Given the description of an element on the screen output the (x, y) to click on. 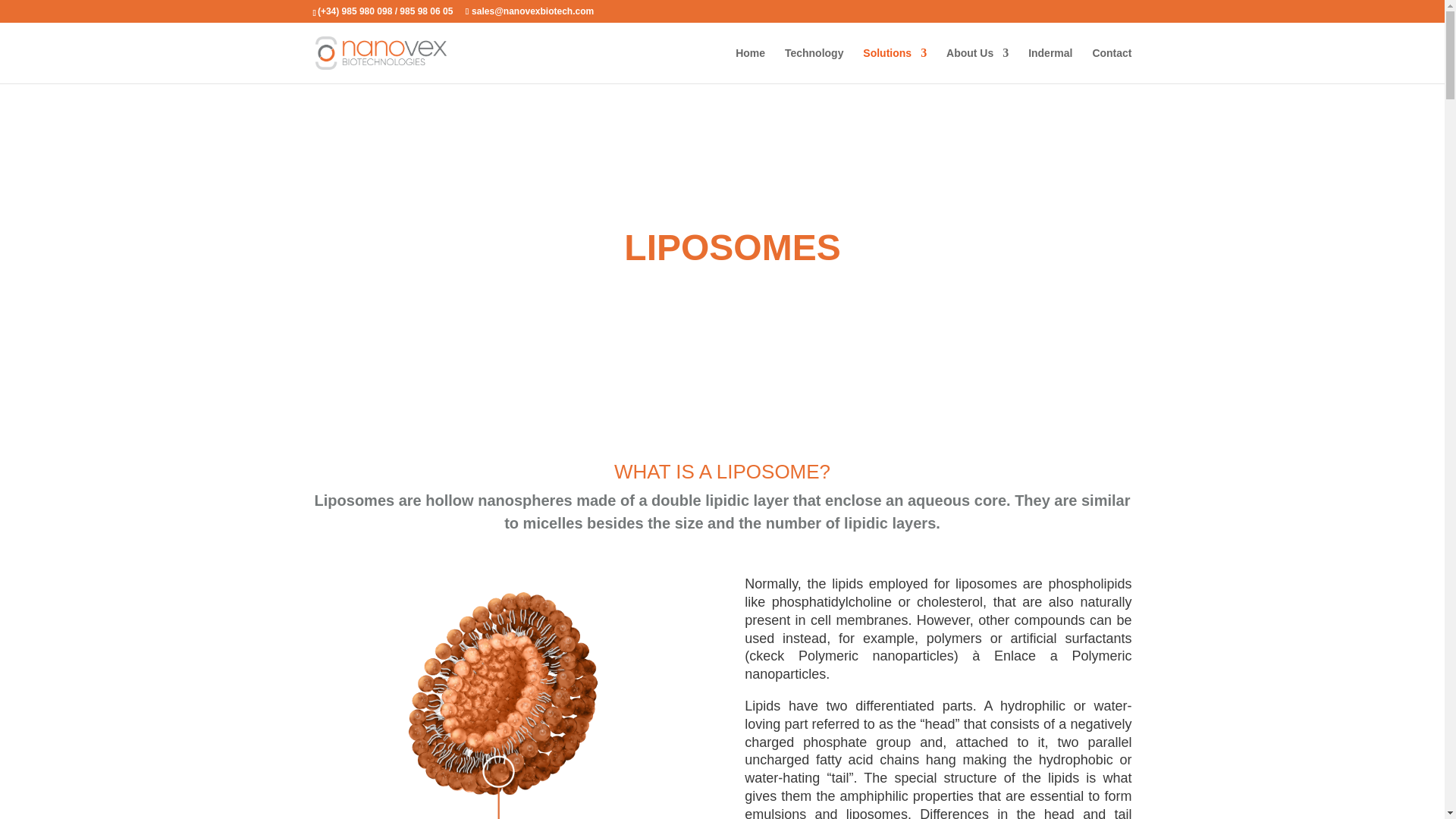
About Us (977, 65)
liposomes-what-is-a-liposome (506, 686)
Contact (1111, 65)
Technology (814, 65)
Indermal (1049, 65)
Solutions (894, 65)
